Given the description of an element on the screen output the (x, y) to click on. 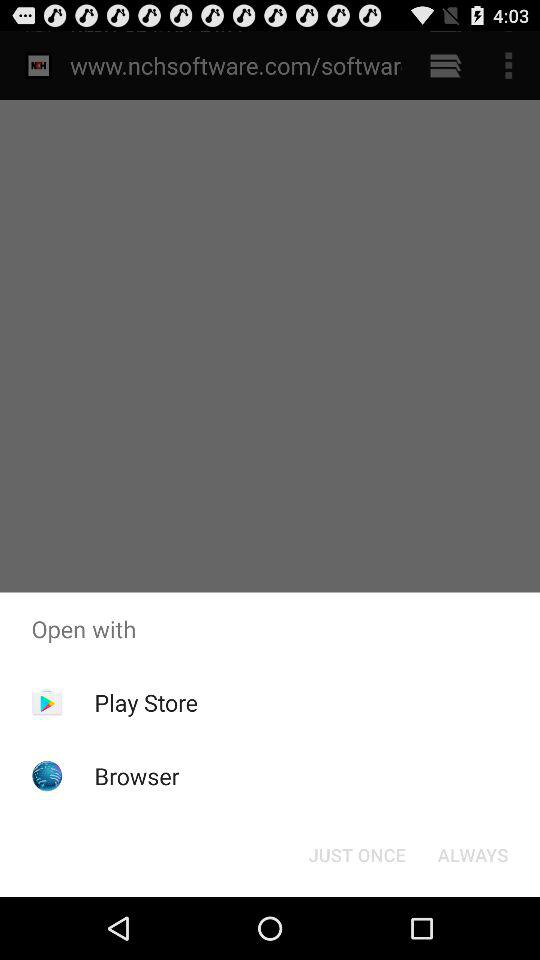
tap button next to just once button (472, 854)
